Given the description of an element on the screen output the (x, y) to click on. 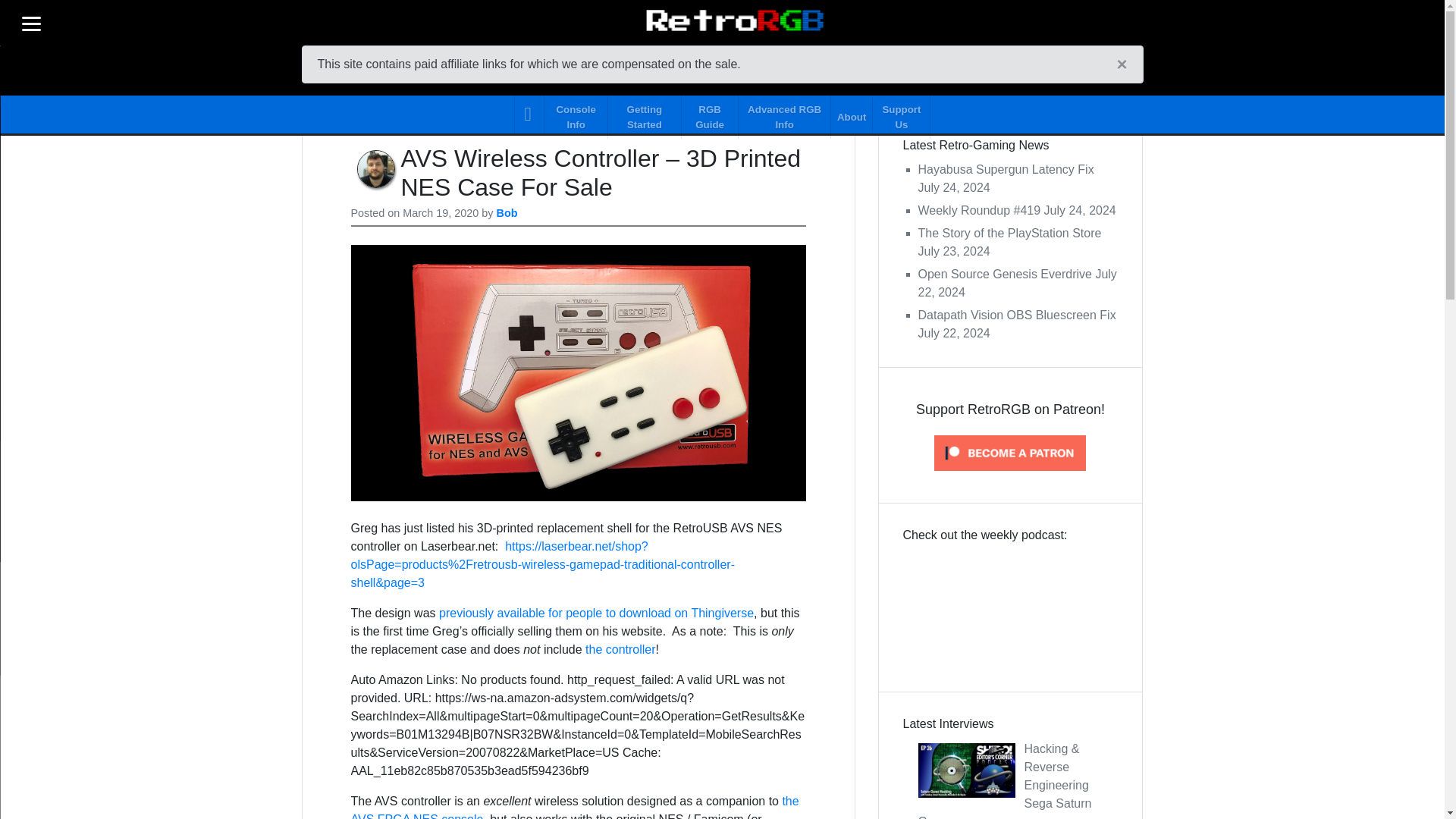
The Story of the PlayStation Store (1008, 232)
Open Source Genesis Everdrive (1003, 273)
Datapath Vision OBS Bluescreen Fix (1016, 314)
RetroRGB Weekly Roundup (1010, 604)
RGB Guide (709, 114)
Hayabusa Supergun Latency Fix (1005, 169)
Getting Started (644, 114)
the AVS FPGA NES console (573, 806)
About (851, 114)
the controller (620, 649)
previously available for people to download on Thingiverse (596, 612)
Bob (507, 213)
March 19, 2020 (441, 213)
Console Info (575, 114)
Support Us (901, 114)
